Given the description of an element on the screen output the (x, y) to click on. 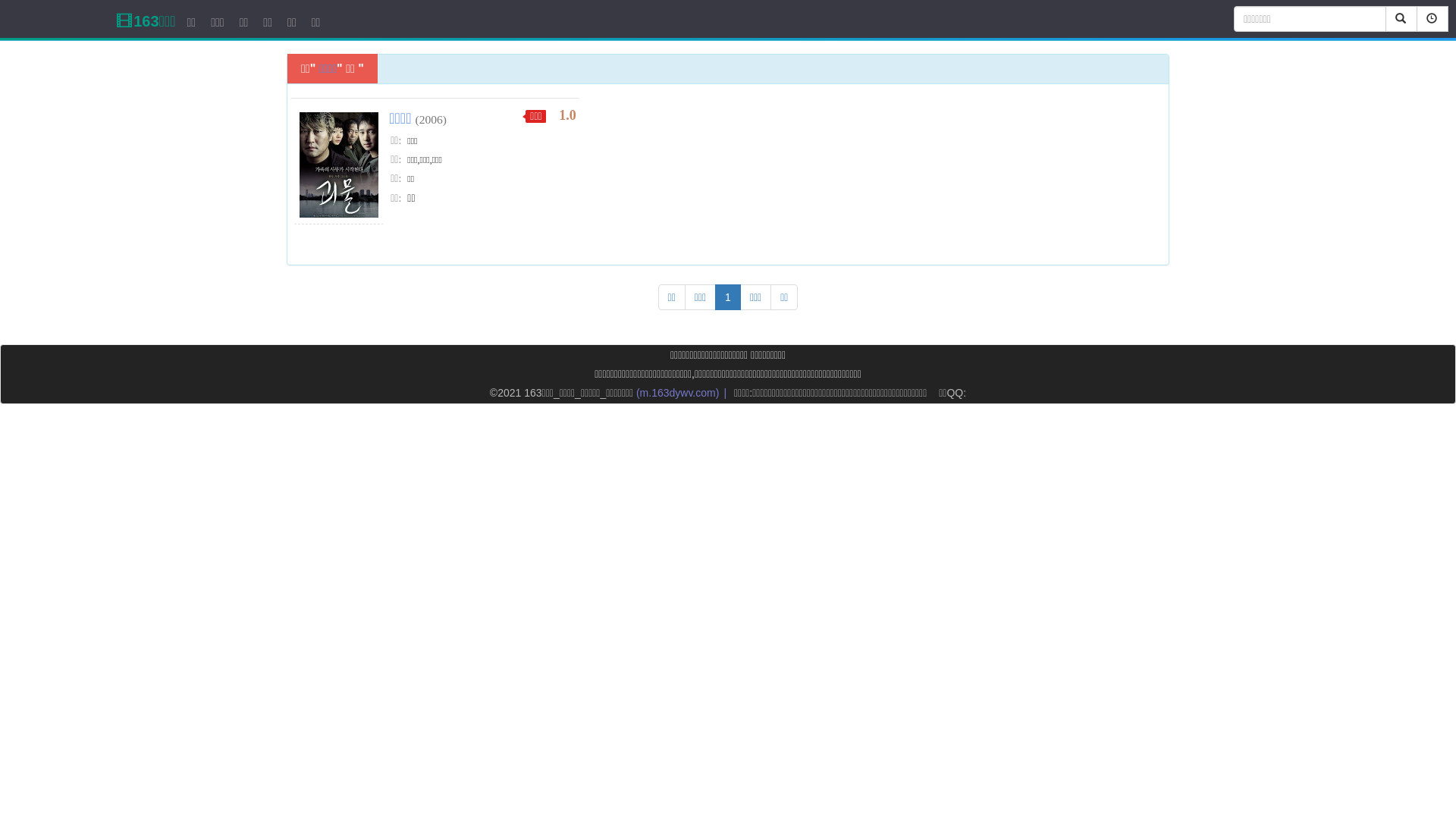
1 Element type: text (727, 297)
(m.163dywv.com) Element type: text (677, 392)
